Given the description of an element on the screen output the (x, y) to click on. 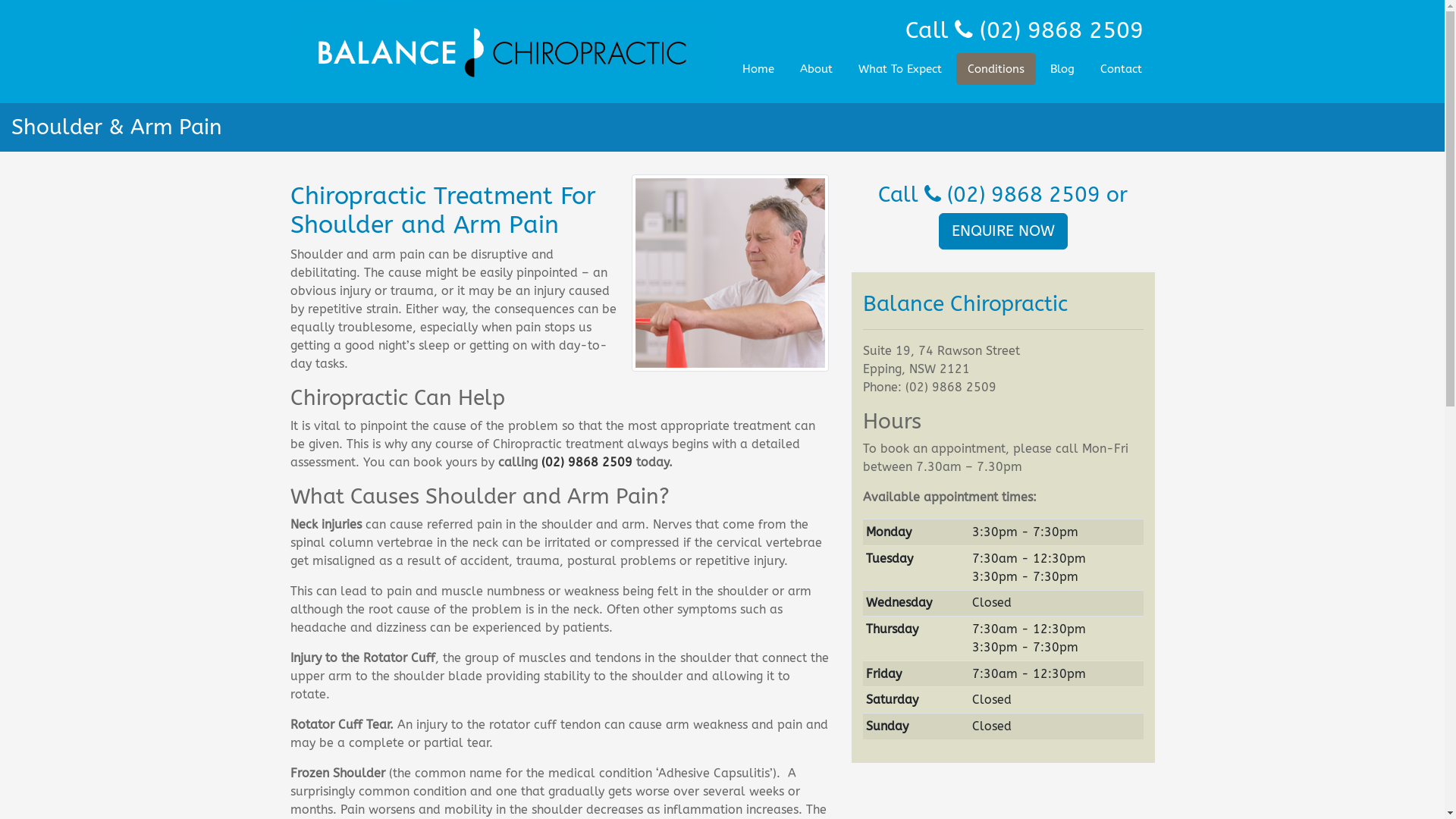
Contact Element type: text (1120, 69)
(02) 9868 2509 Element type: text (586, 462)
Call (02) 9868 2509 Element type: text (989, 194)
Blog Element type: text (1061, 69)
What To Expect Element type: text (899, 69)
Home Element type: text (758, 69)
Call (02) 9868 2509 Element type: text (1024, 29)
ENQUIRE NOW Element type: text (1002, 231)
About Element type: text (816, 69)
Conditions Element type: text (995, 69)
